Given the description of an element on the screen output the (x, y) to click on. 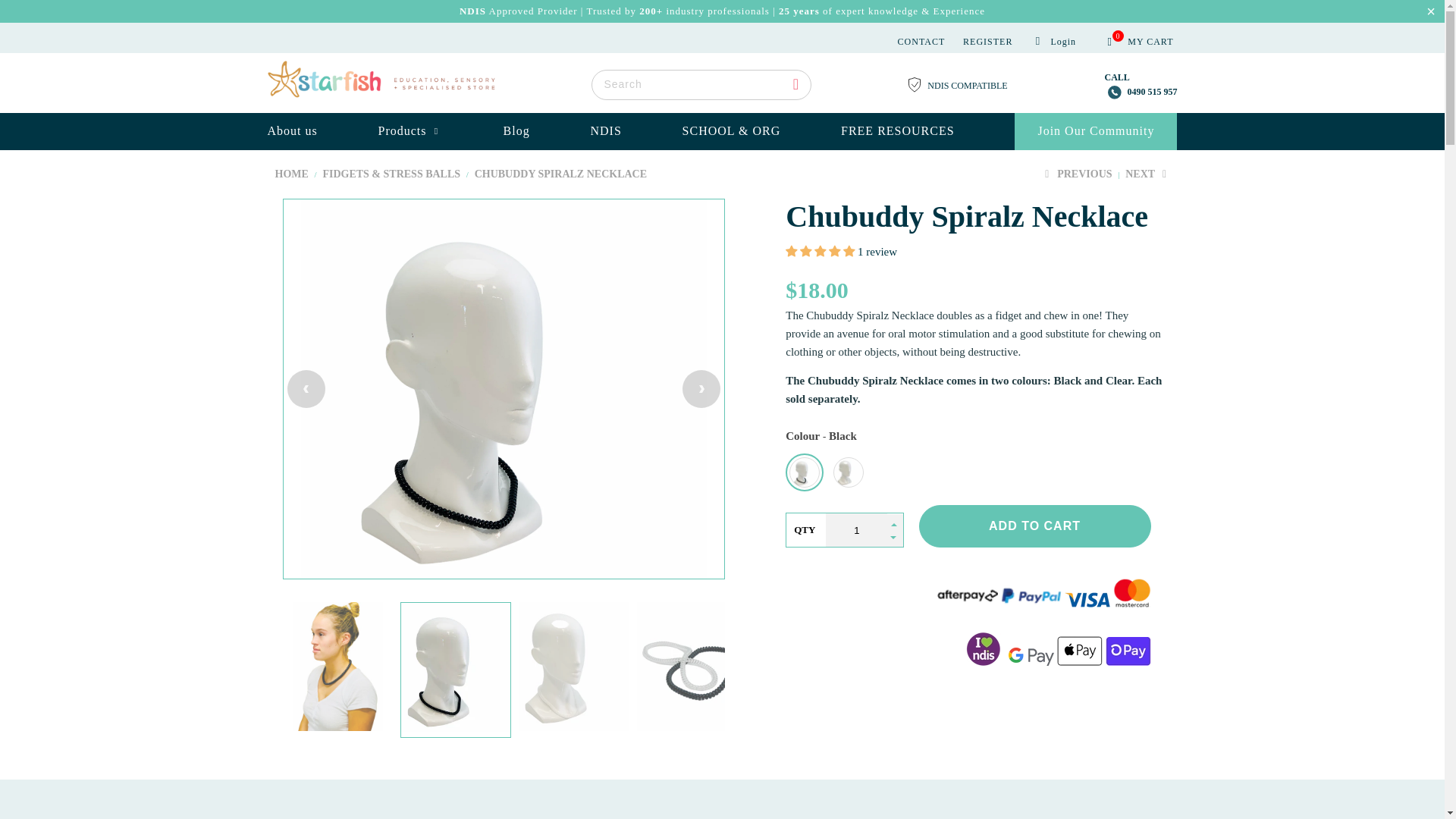
Previous (1076, 173)
1 (855, 530)
My Account  (1055, 41)
Starfish Store (380, 84)
Starfish Store (291, 174)
Next (1147, 173)
